Given the description of an element on the screen output the (x, y) to click on. 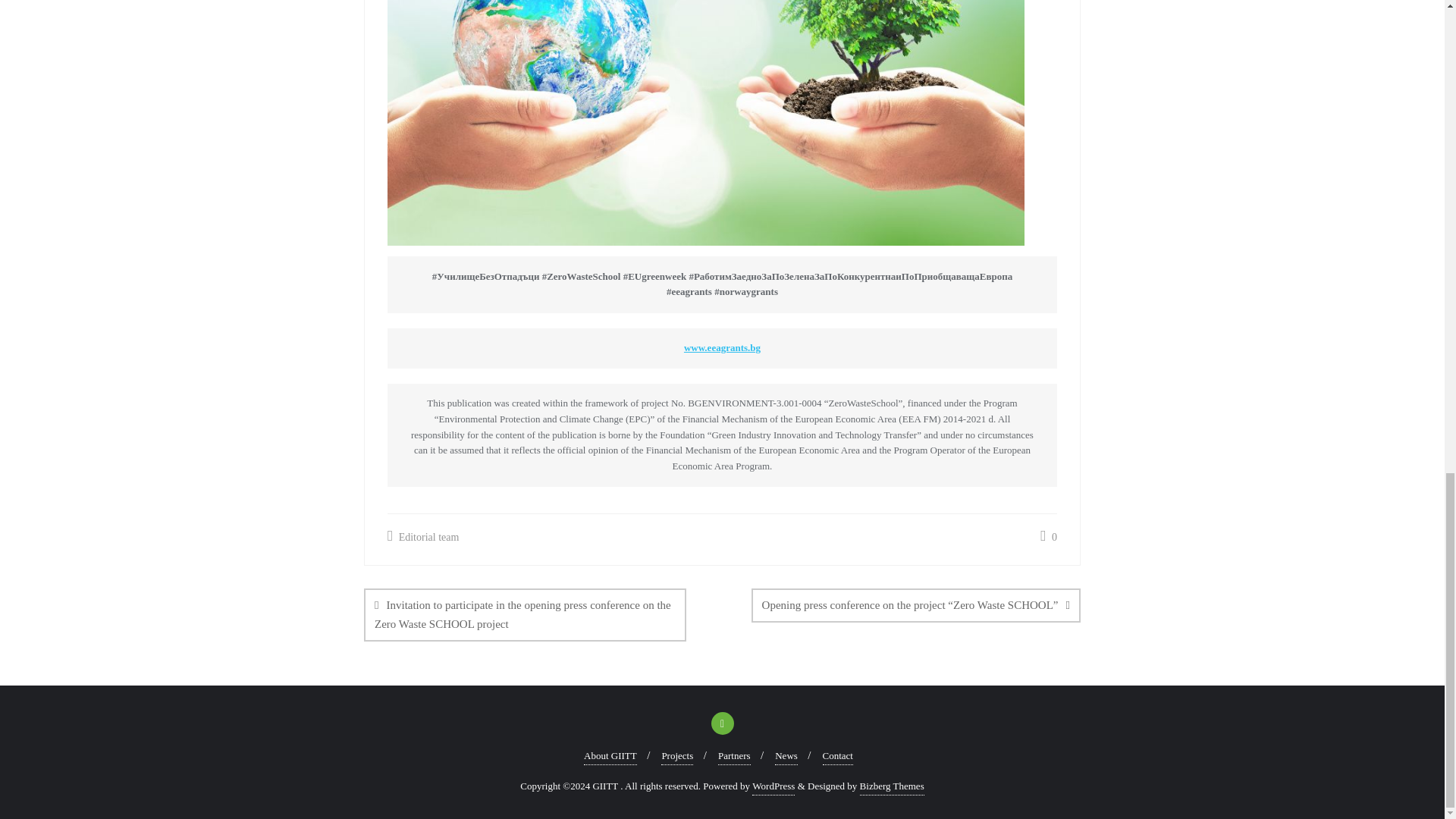
Bizberg Themes (892, 786)
Projects (677, 755)
About GIITT (610, 755)
Editorial team (422, 537)
Contact (837, 755)
News (785, 755)
Partners (734, 755)
www.eeagrants.bg (722, 347)
WordPress (773, 786)
